Given the description of an element on the screen output the (x, y) to click on. 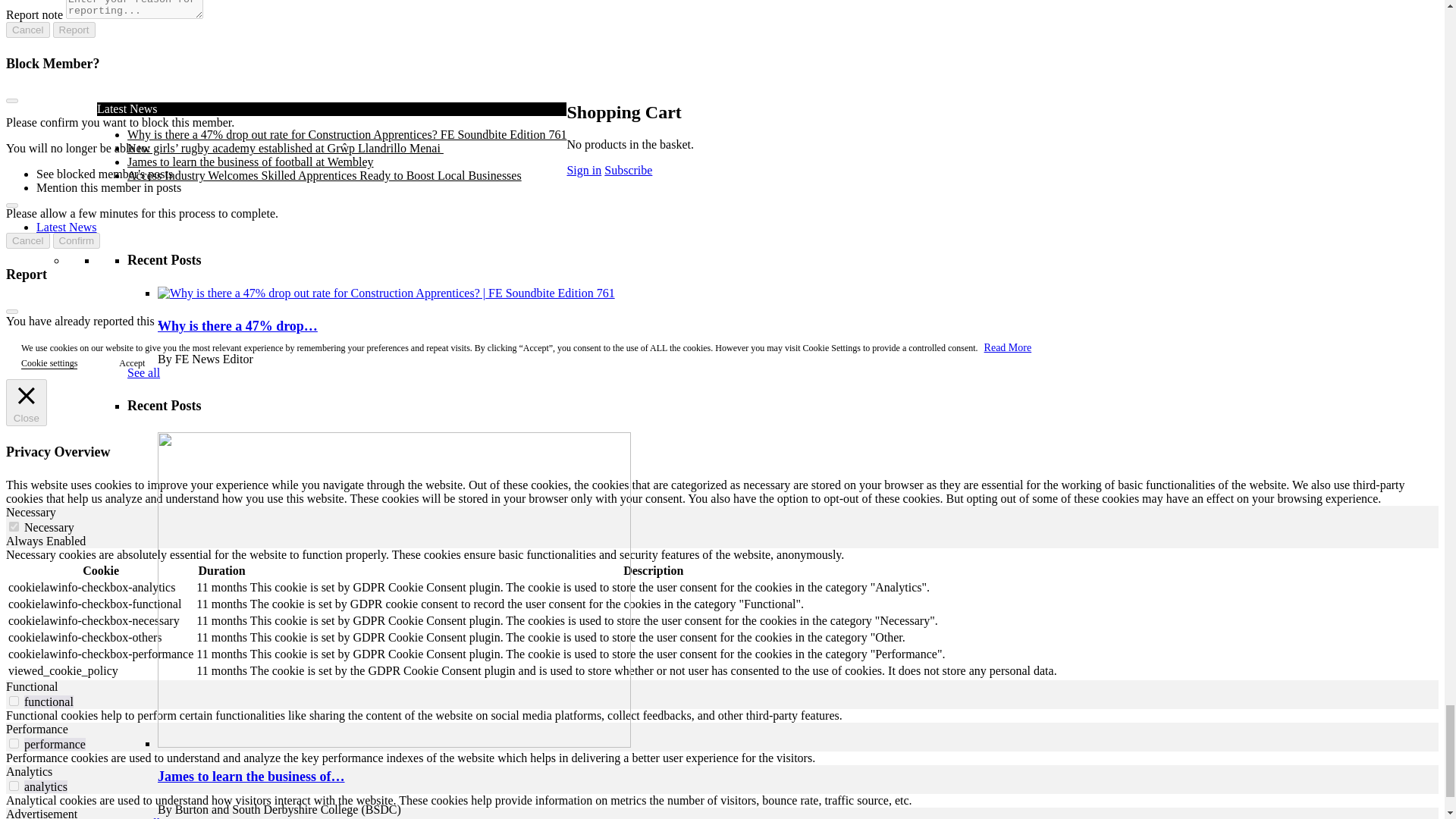
on (13, 700)
on (13, 526)
on (13, 743)
Cancel (27, 240)
Cancel (27, 29)
on (13, 786)
